Given the description of an element on the screen output the (x, y) to click on. 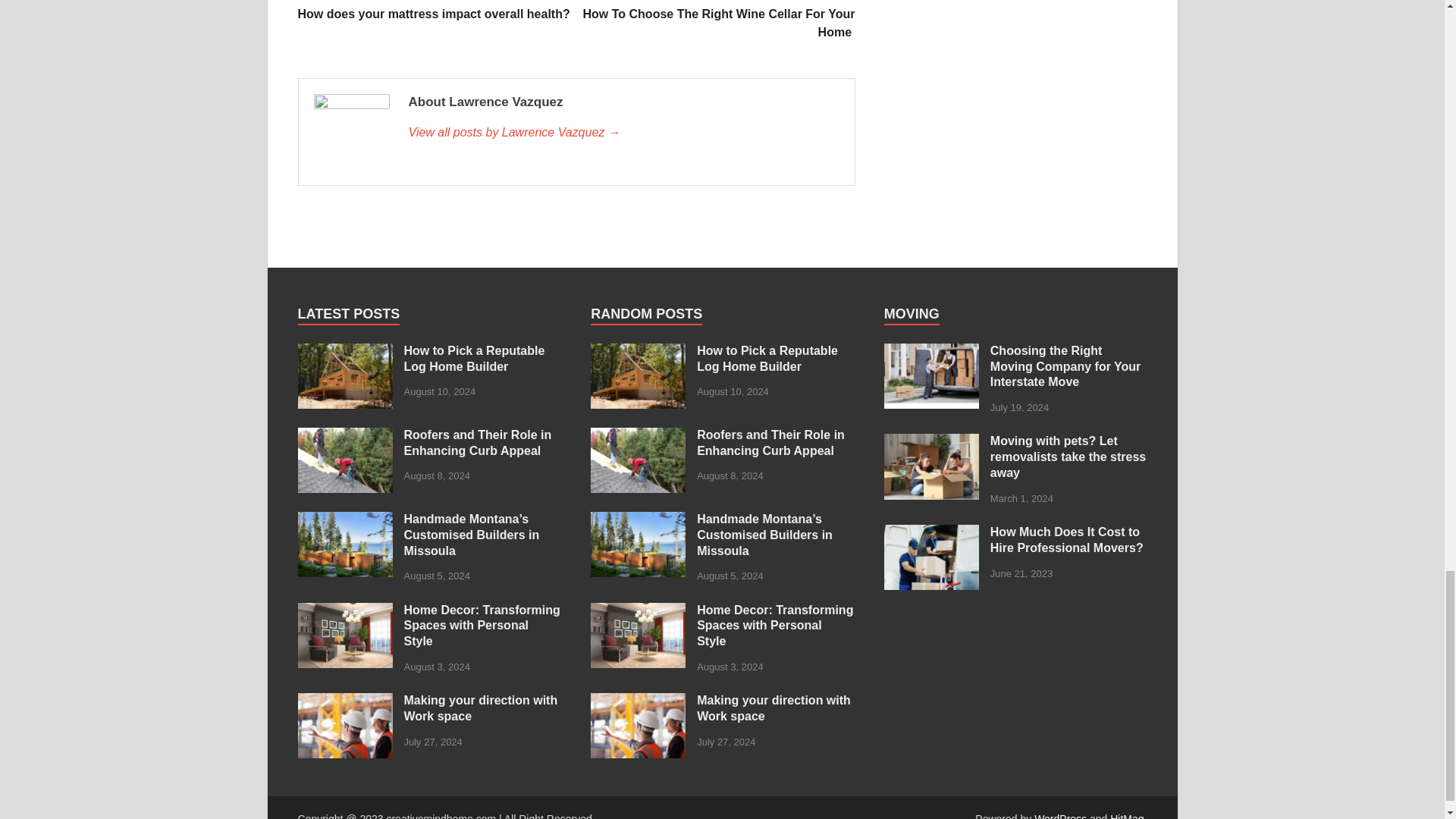
Lawrence Vazquez (622, 132)
How to Pick a Reputable Log Home Builder (344, 351)
Roofers and Their Role in Enhancing Curb Appeal (344, 436)
